Given the description of an element on the screen output the (x, y) to click on. 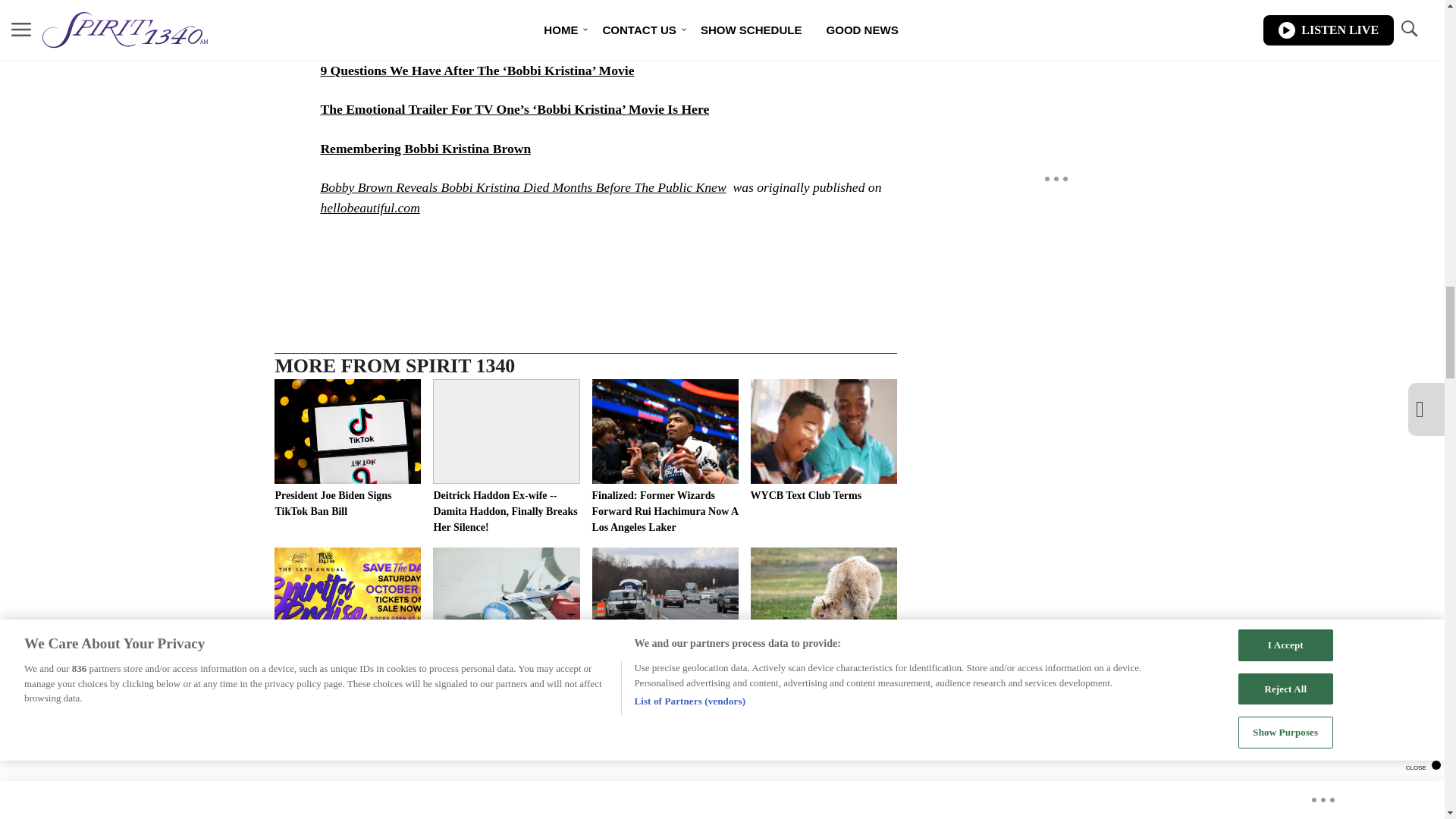
Vuukle Sharebar Widget (585, 253)
WYCB Text Club Terms (823, 441)
President Joe Biden Signs TikTok Ban Bill (347, 449)
Remembering Bobbi Kristina Brown (425, 148)
hellobeautiful.com (369, 207)
